Given the description of an element on the screen output the (x, y) to click on. 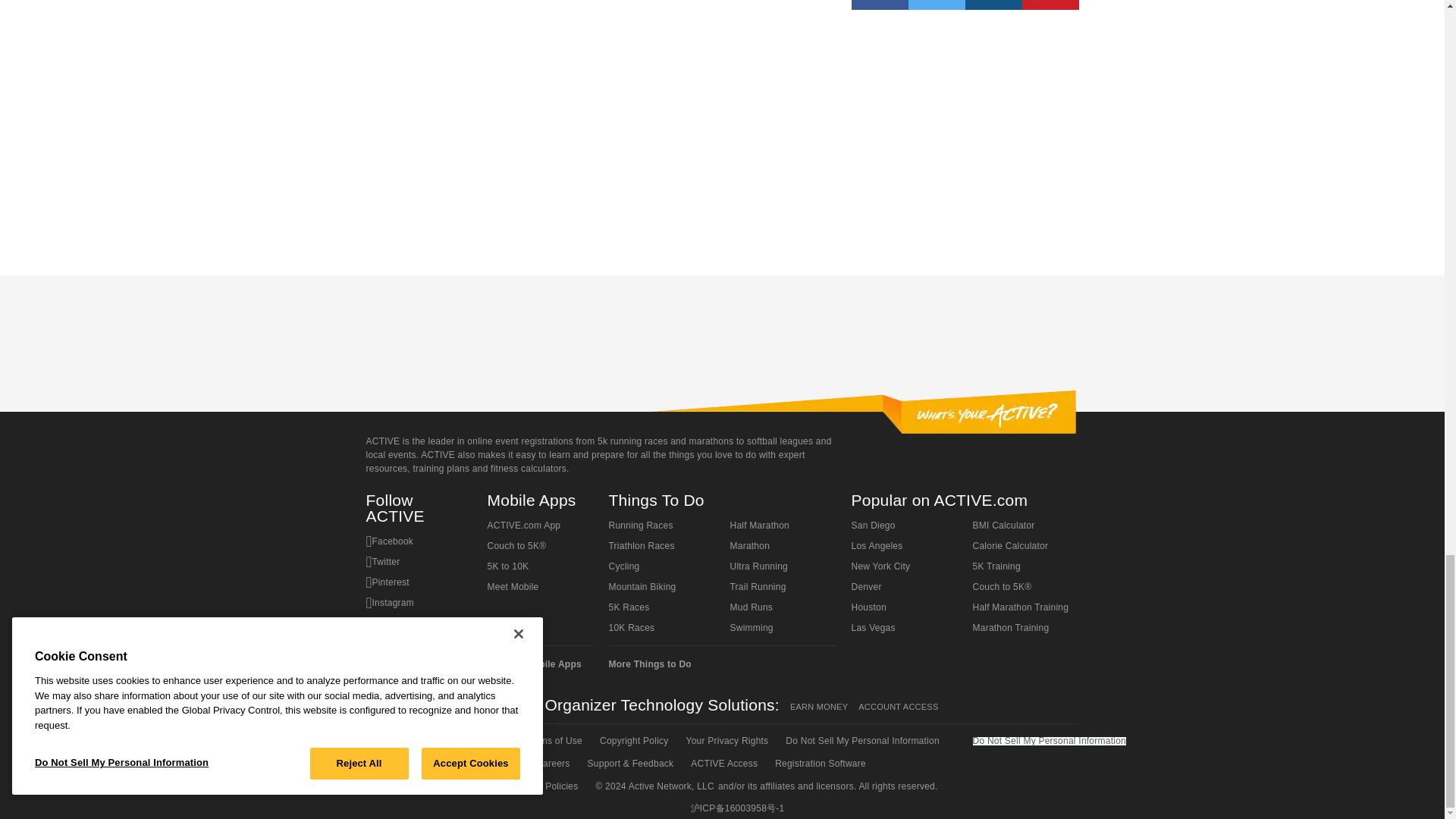
3rd party ad content (964, 135)
